Given the description of an element on the screen output the (x, y) to click on. 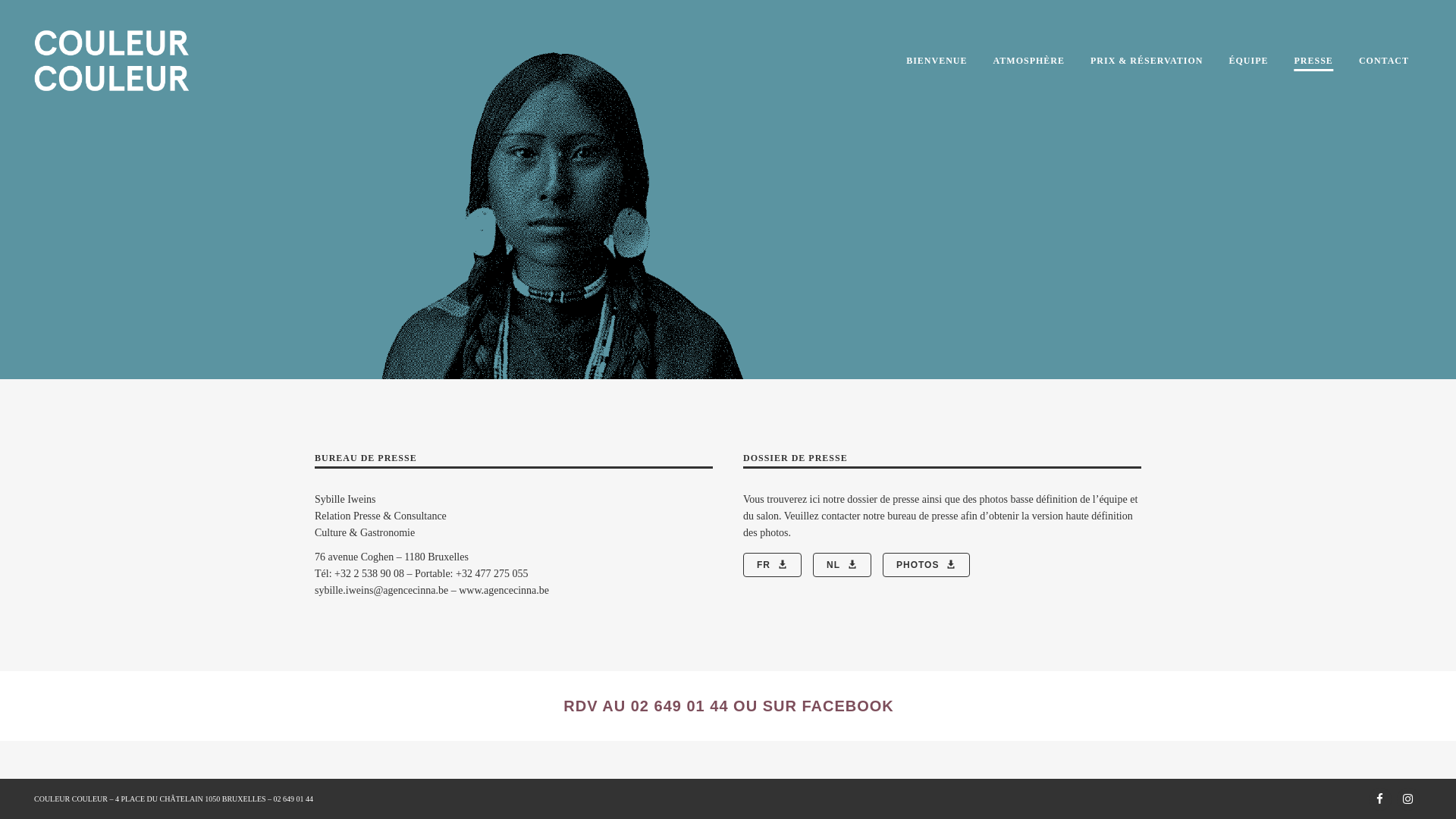
sybille.iweins@agencecinna.be Element type: text (381, 590)
FR Element type: text (772, 564)
www.agencecinna.be Element type: text (503, 590)
PRESSE Element type: text (1313, 60)
BIENVENUE Element type: text (936, 60)
NL Element type: text (841, 564)
CONTACT Element type: text (1383, 60)
PHOTOS Element type: text (925, 564)
